Given the description of an element on the screen output the (x, y) to click on. 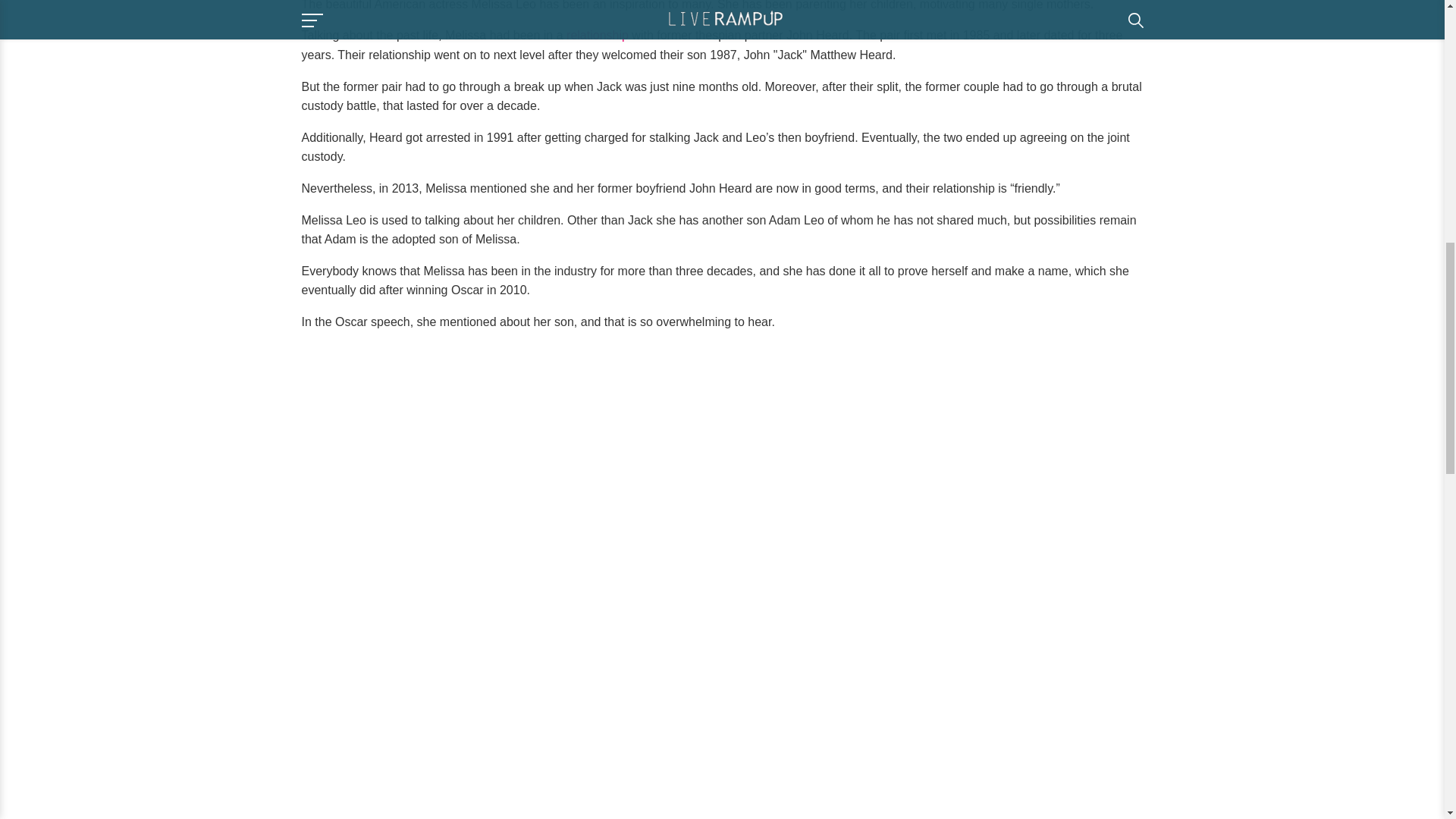
relationship (597, 34)
